Given the description of an element on the screen output the (x, y) to click on. 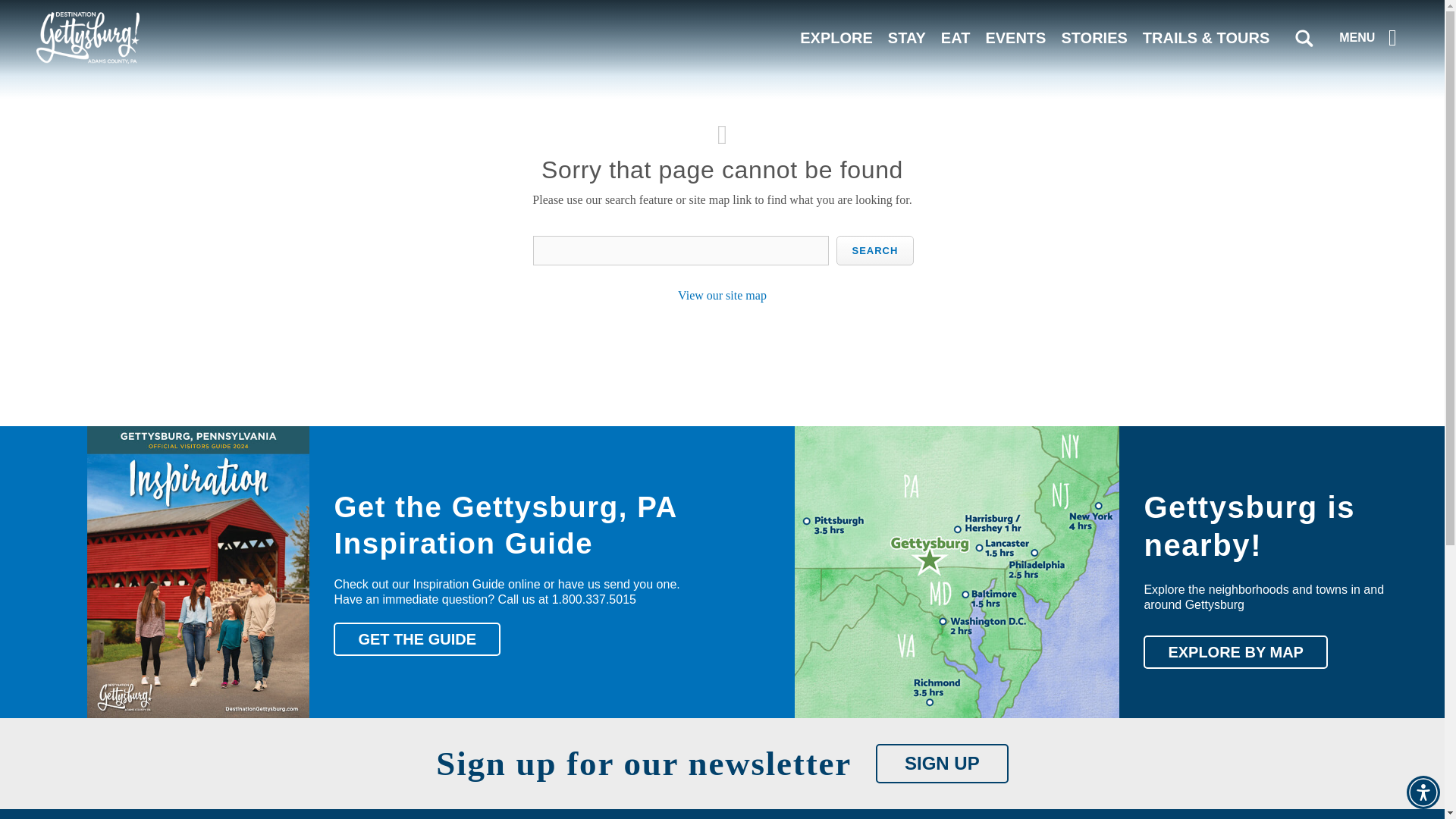
Accessibility Menu (1422, 792)
EVENTS (1015, 37)
EXPLORE (835, 37)
MENU (1371, 37)
EAT (955, 37)
STAY (907, 37)
STORIES (1093, 37)
